Given the description of an element on the screen output the (x, y) to click on. 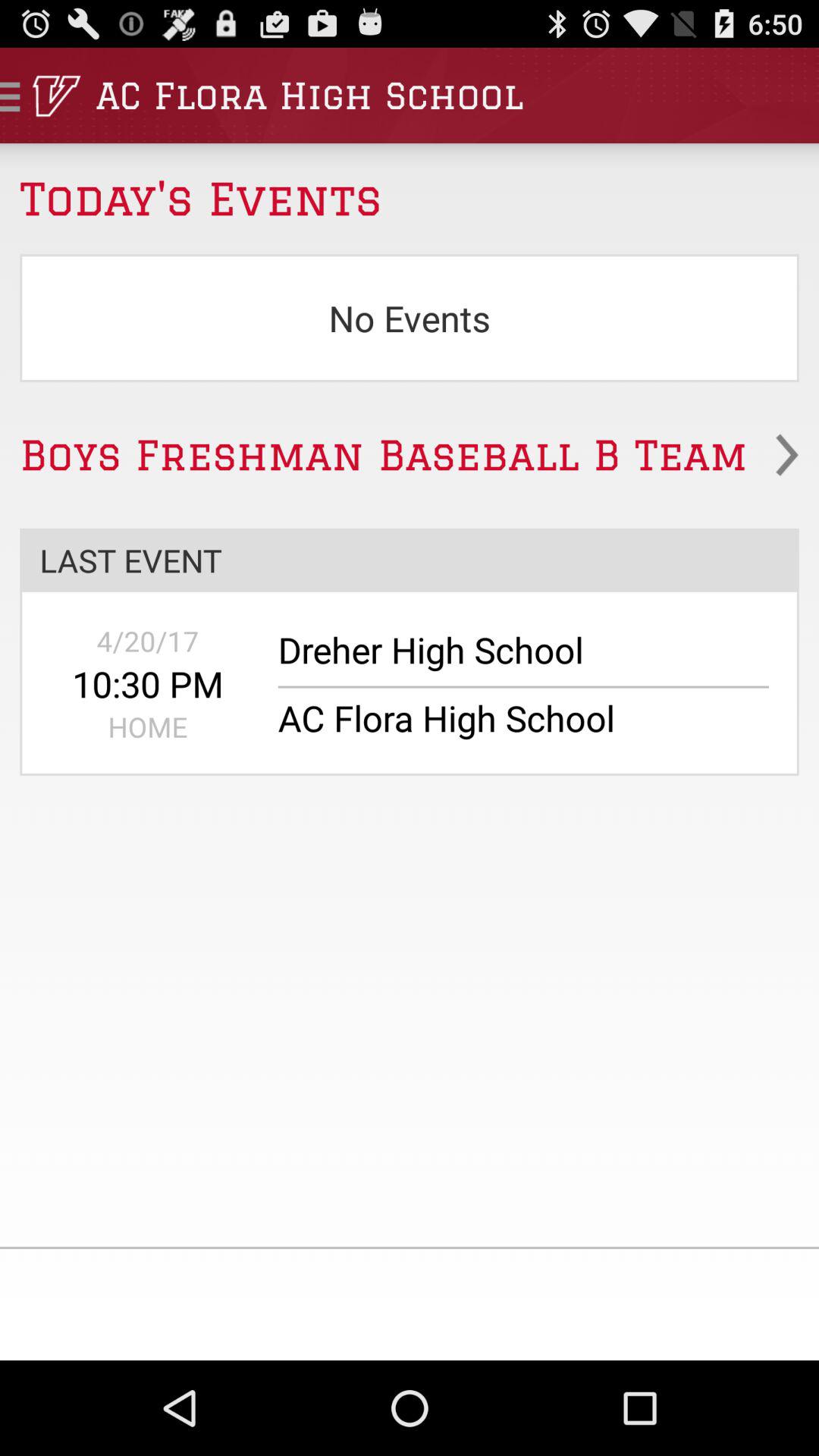
click the item below the no events icon (409, 455)
